Given the description of an element on the screen output the (x, y) to click on. 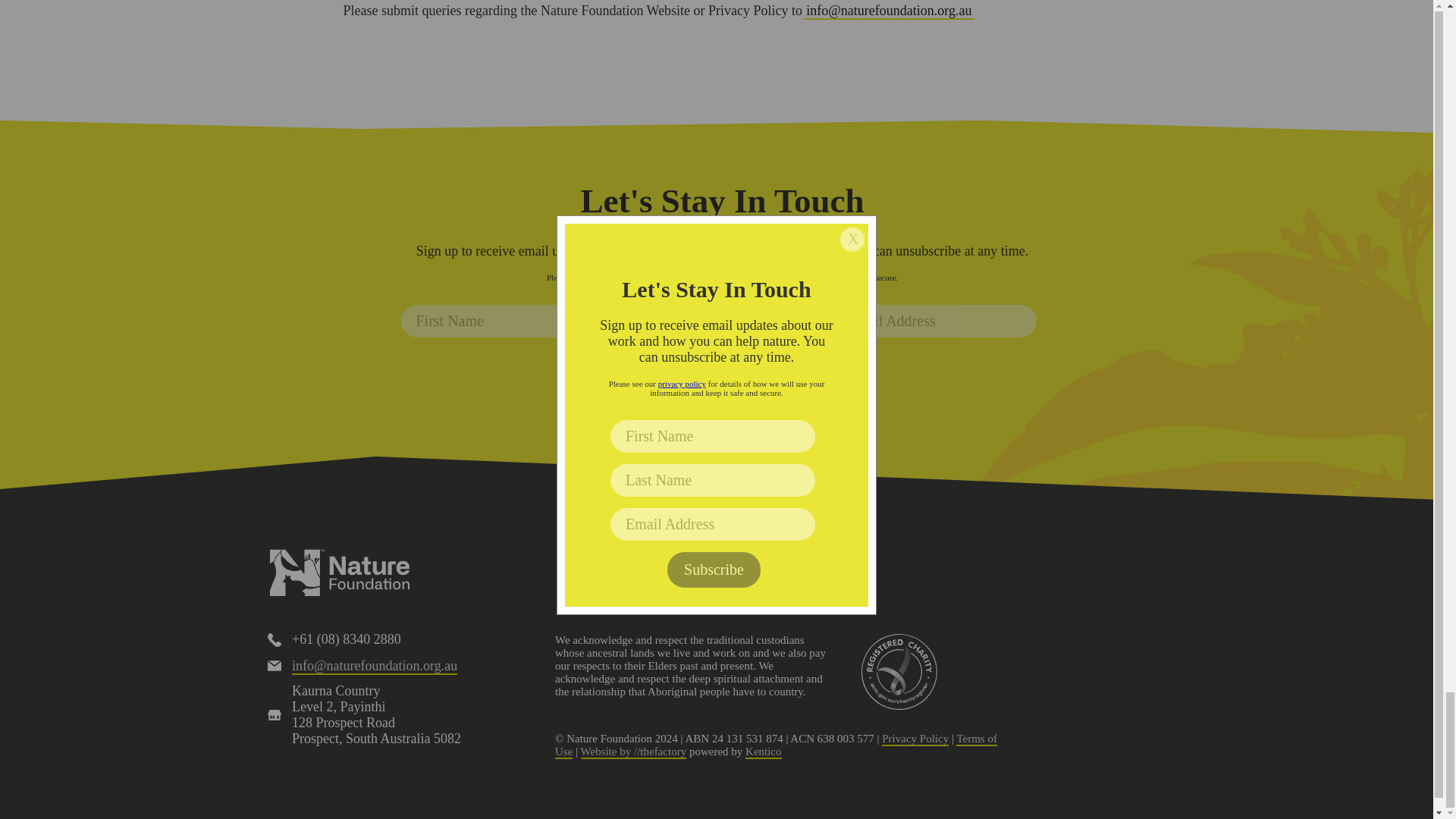
Web Design Adelaide (633, 752)
Subscribe (719, 366)
